Given the description of an element on the screen output the (x, y) to click on. 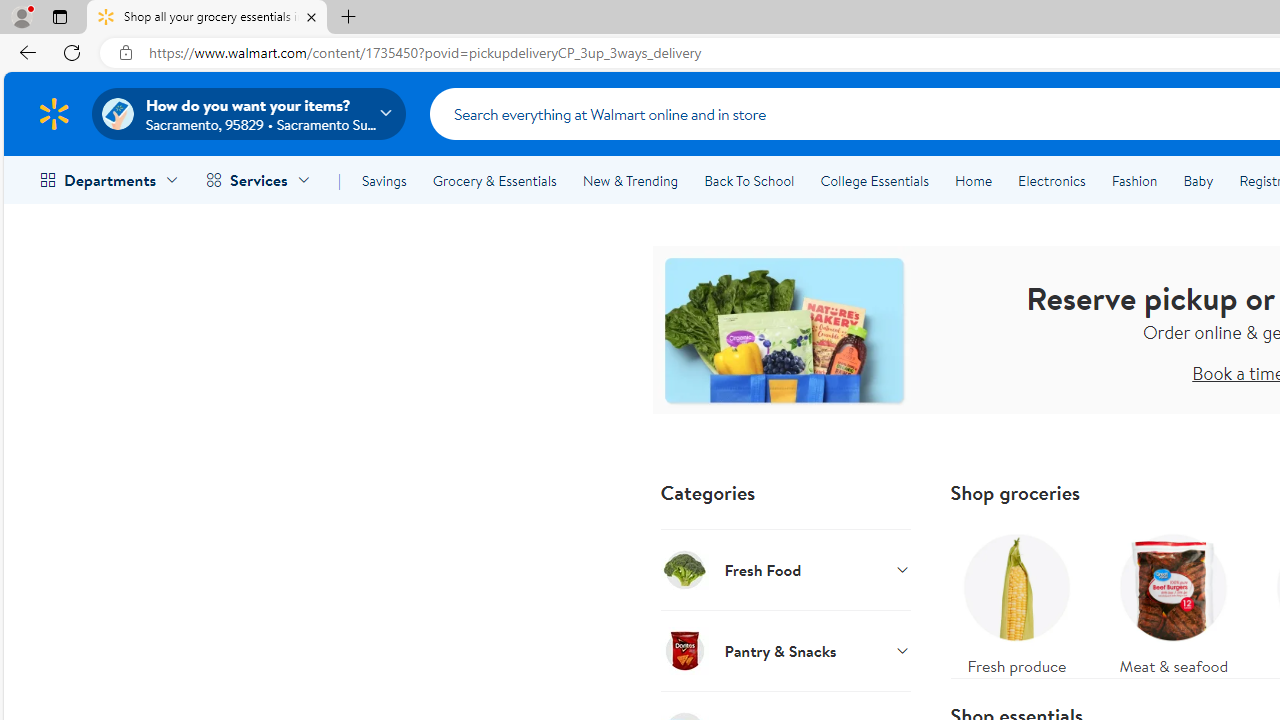
Baby (1197, 180)
Grocery & Essentials (493, 180)
Walmart Homepage (53, 113)
Meat & seafood (1174, 599)
Fresh produce (1016, 599)
Shop all your grocery essentials in one place! - Walmart.com (207, 17)
Fashion (1134, 180)
Pantry & Snacks (785, 650)
